Given the description of an element on the screen output the (x, y) to click on. 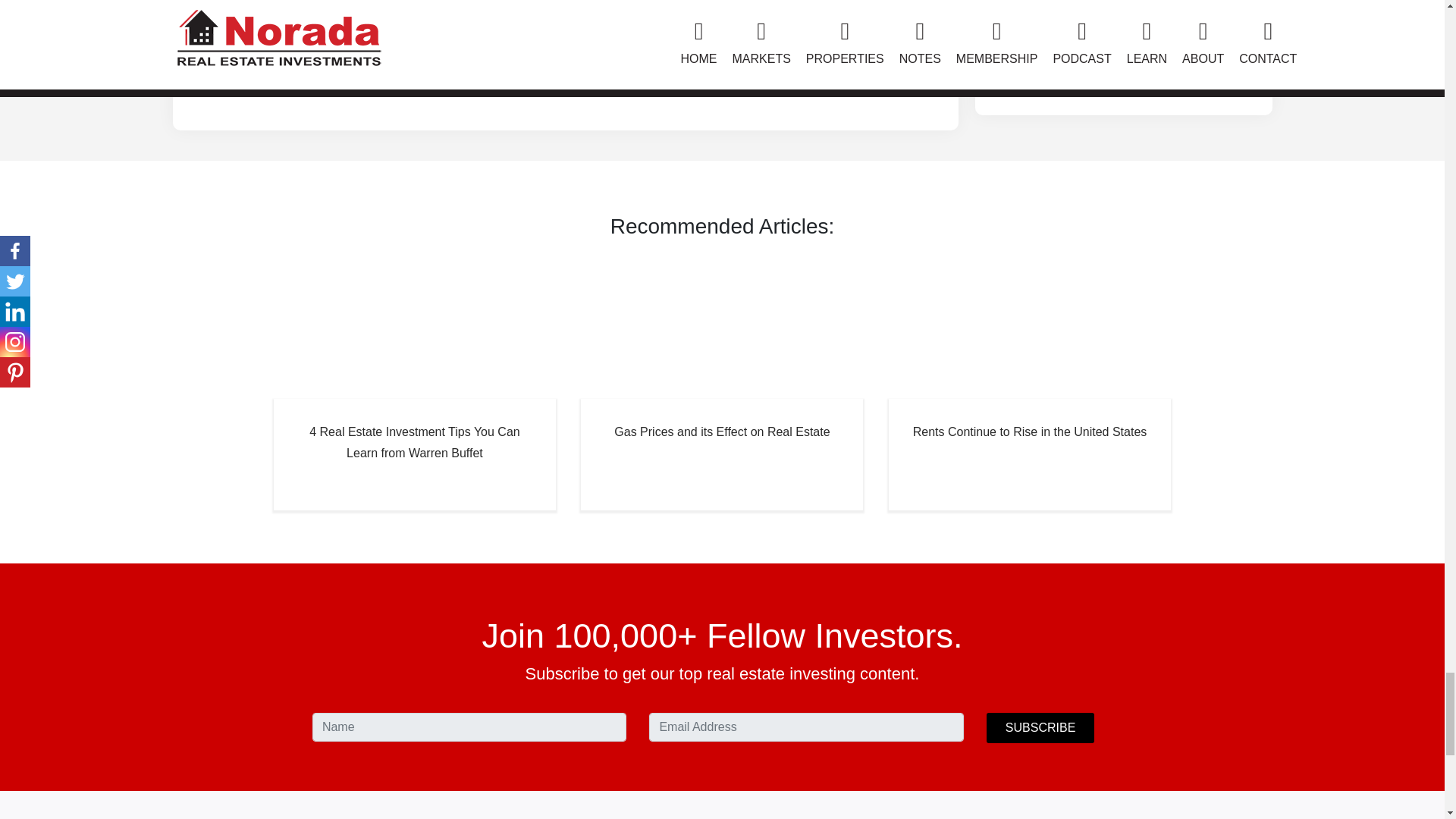
Permanent Link toGas Prices and its Effect on Real Estate (721, 454)
Permanent Link toRents Continue to Rise in the United States (1029, 454)
SUBSCRIBE (1040, 727)
